Given the description of an element on the screen output the (x, y) to click on. 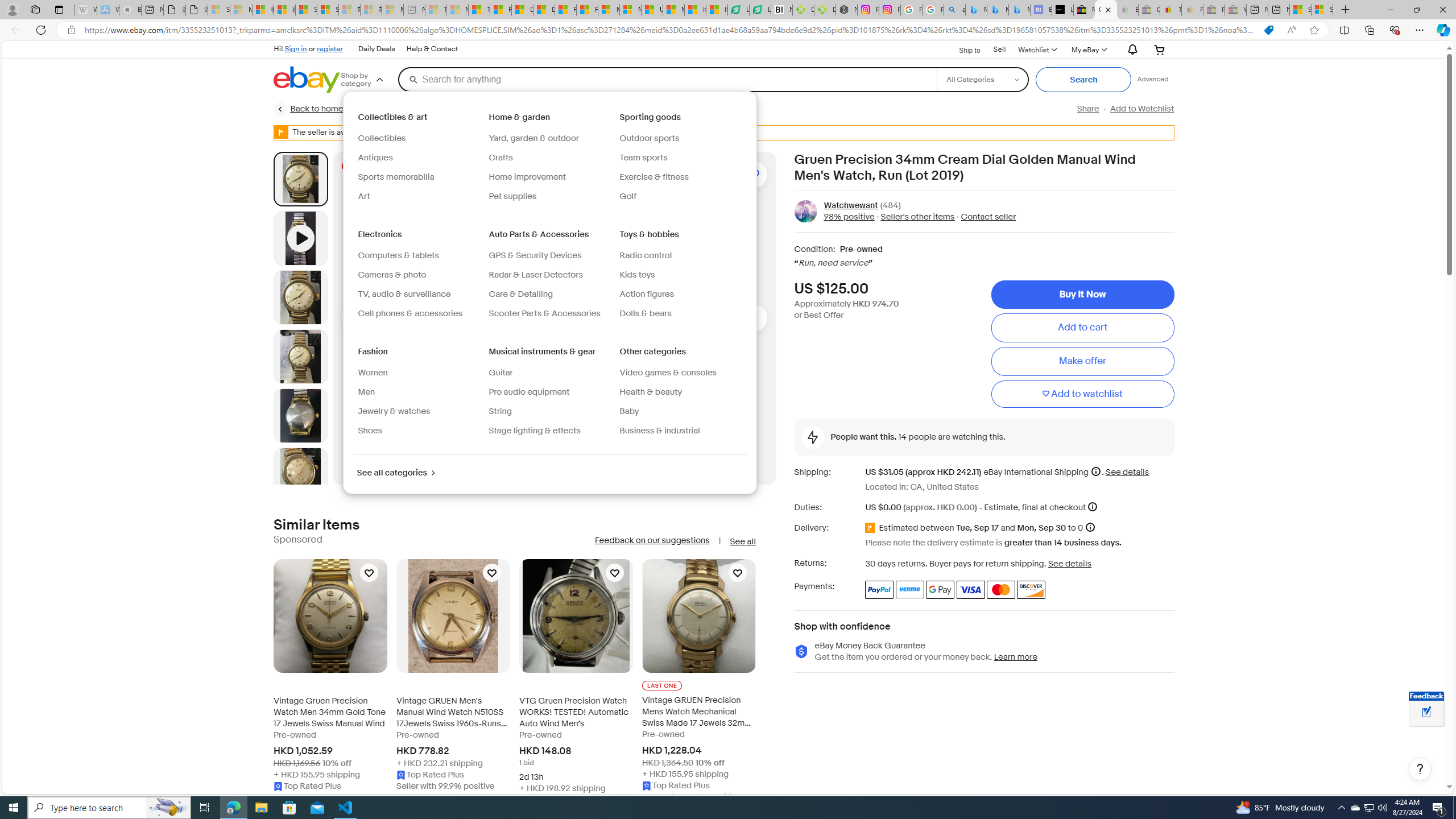
Picture 4 of 13 (300, 415)
Search for anything (666, 78)
Computers & tablets (418, 255)
Baby (628, 411)
Nordace - Nordace Edin Collection (846, 9)
Wristwatches (663, 108)
Add to cart (1082, 328)
Pro audio equipment (529, 392)
Women (418, 372)
Share (1087, 108)
Toys & hobbies (650, 234)
Home improvement (526, 176)
